Given the description of an element on the screen output the (x, y) to click on. 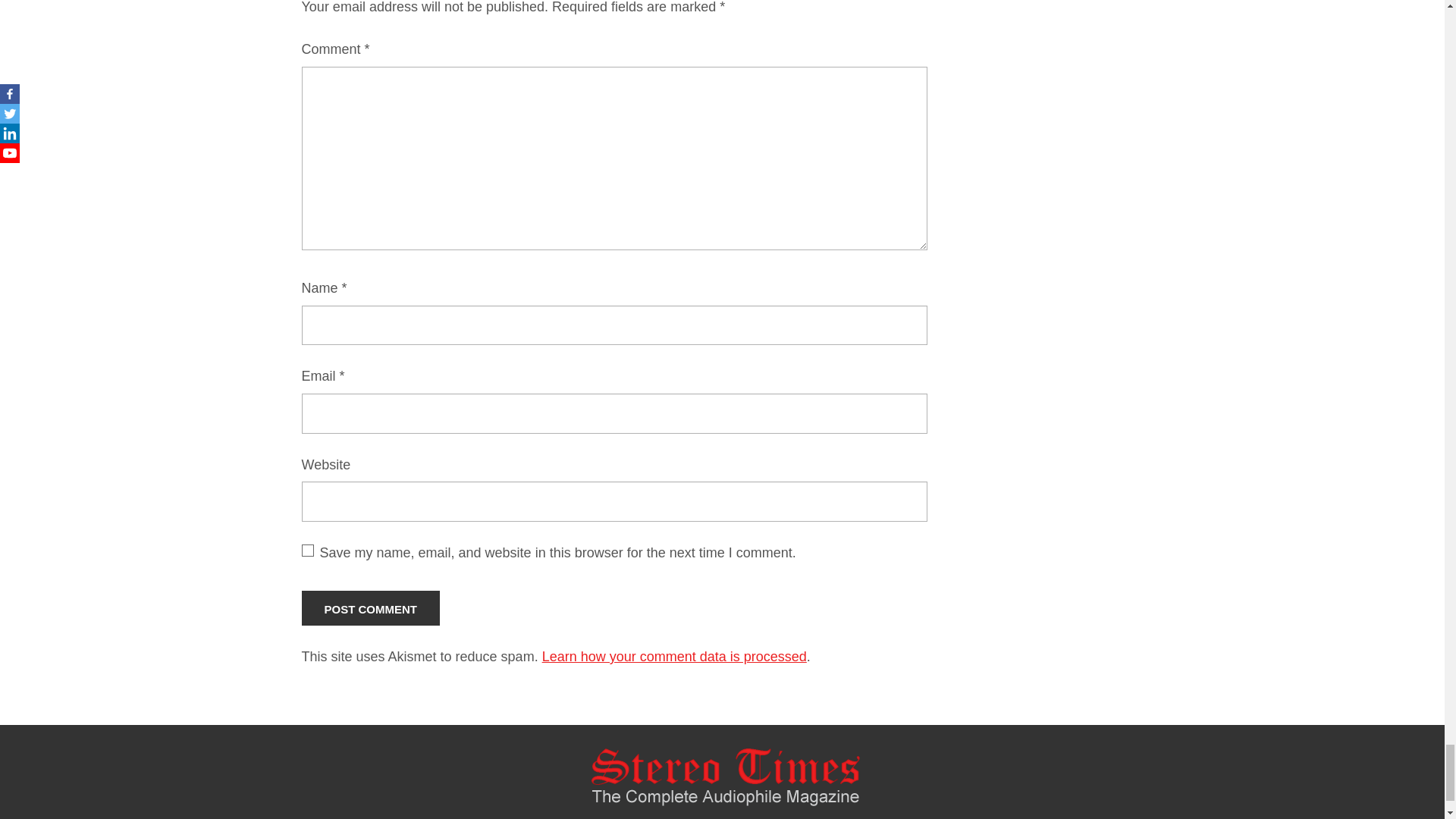
Post Comment (371, 608)
Post Comment (371, 608)
Learn how your comment data is processed (673, 656)
